Given the description of an element on the screen output the (x, y) to click on. 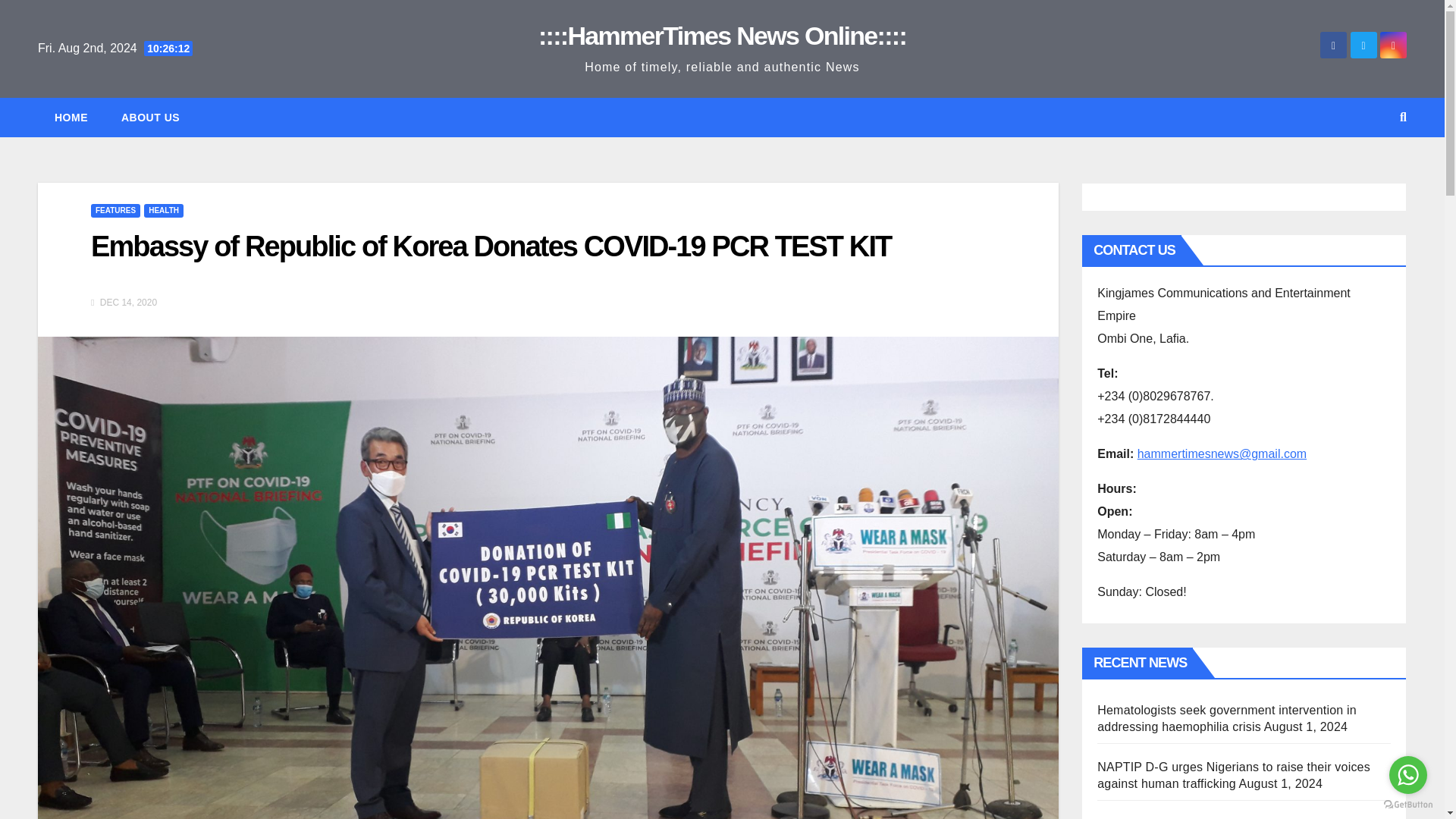
Embassy of Republic of Korea Donates COVID-19 PCR TEST KIT (490, 246)
FEATURES (114, 210)
ABOUT US (150, 117)
HOME (70, 117)
::::HammerTimes News Online:::: (721, 35)
HEALTH (163, 210)
Home (70, 117)
